Given the description of an element on the screen output the (x, y) to click on. 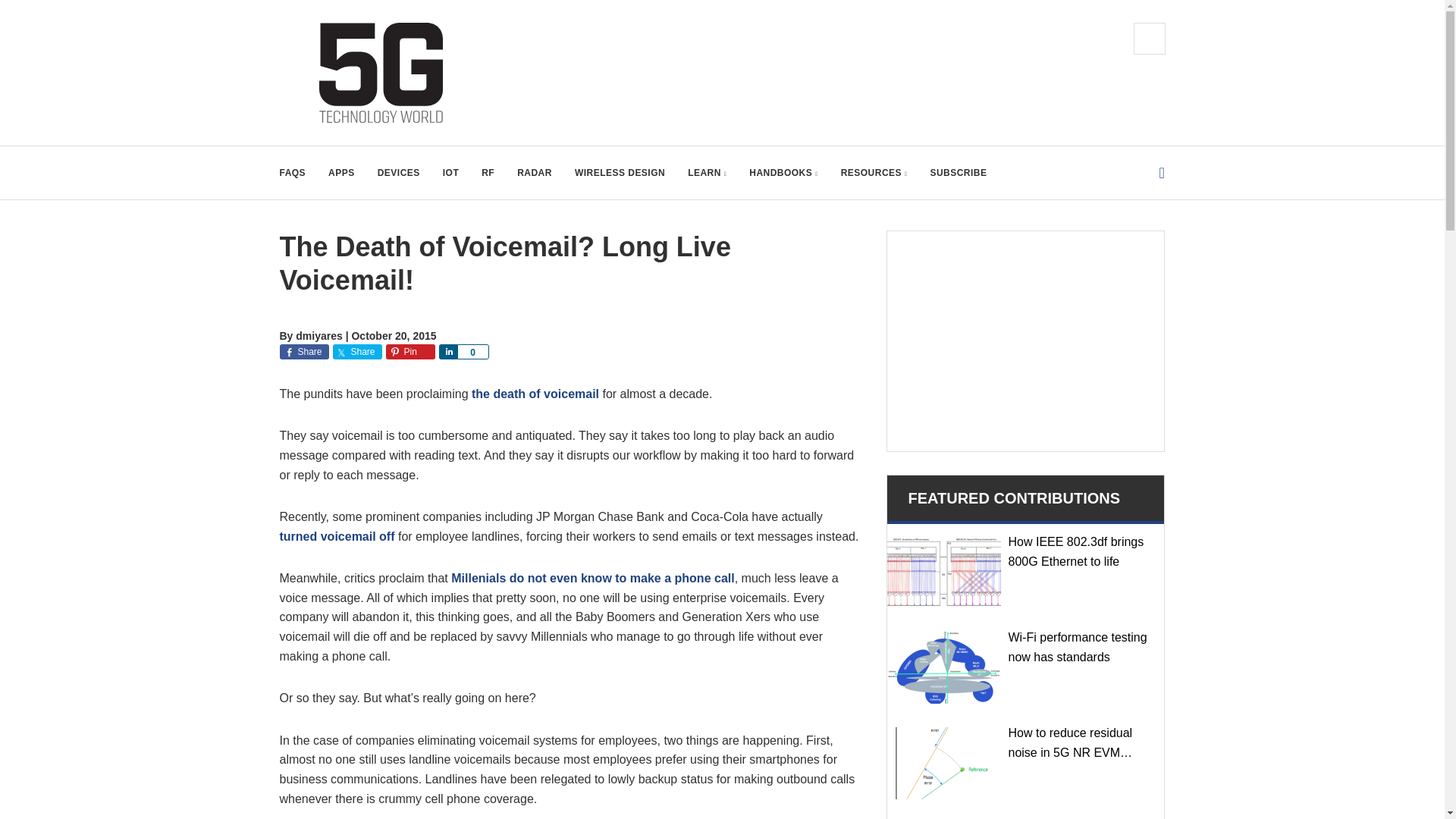
How IEEE 802.3df brings 800G Ethernet to life (943, 572)
HANDBOOKS (782, 172)
Share (356, 351)
Share (304, 351)
APPS (342, 172)
WIRELESS DESIGN (620, 172)
RADAR (533, 172)
SUBSCRIBE (958, 172)
3rd party ad content (1024, 340)
Share (447, 351)
Pin (409, 351)
RESOURCES (874, 172)
LEARN (706, 172)
0 (472, 351)
5G Technology World (380, 72)
